Given the description of an element on the screen output the (x, y) to click on. 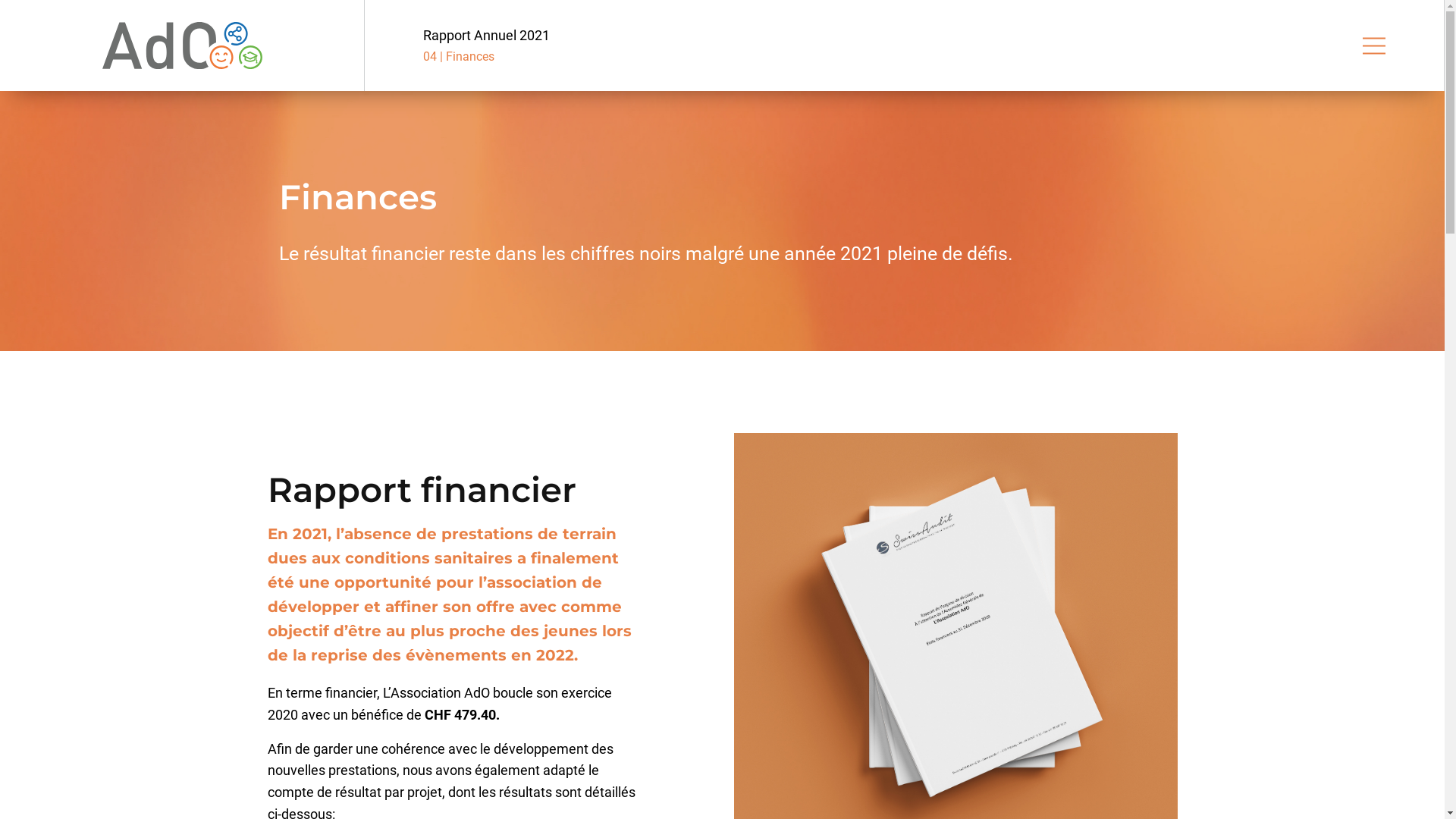
Aller au contenu principal Element type: text (0, 91)
